Given the description of an element on the screen output the (x, y) to click on. 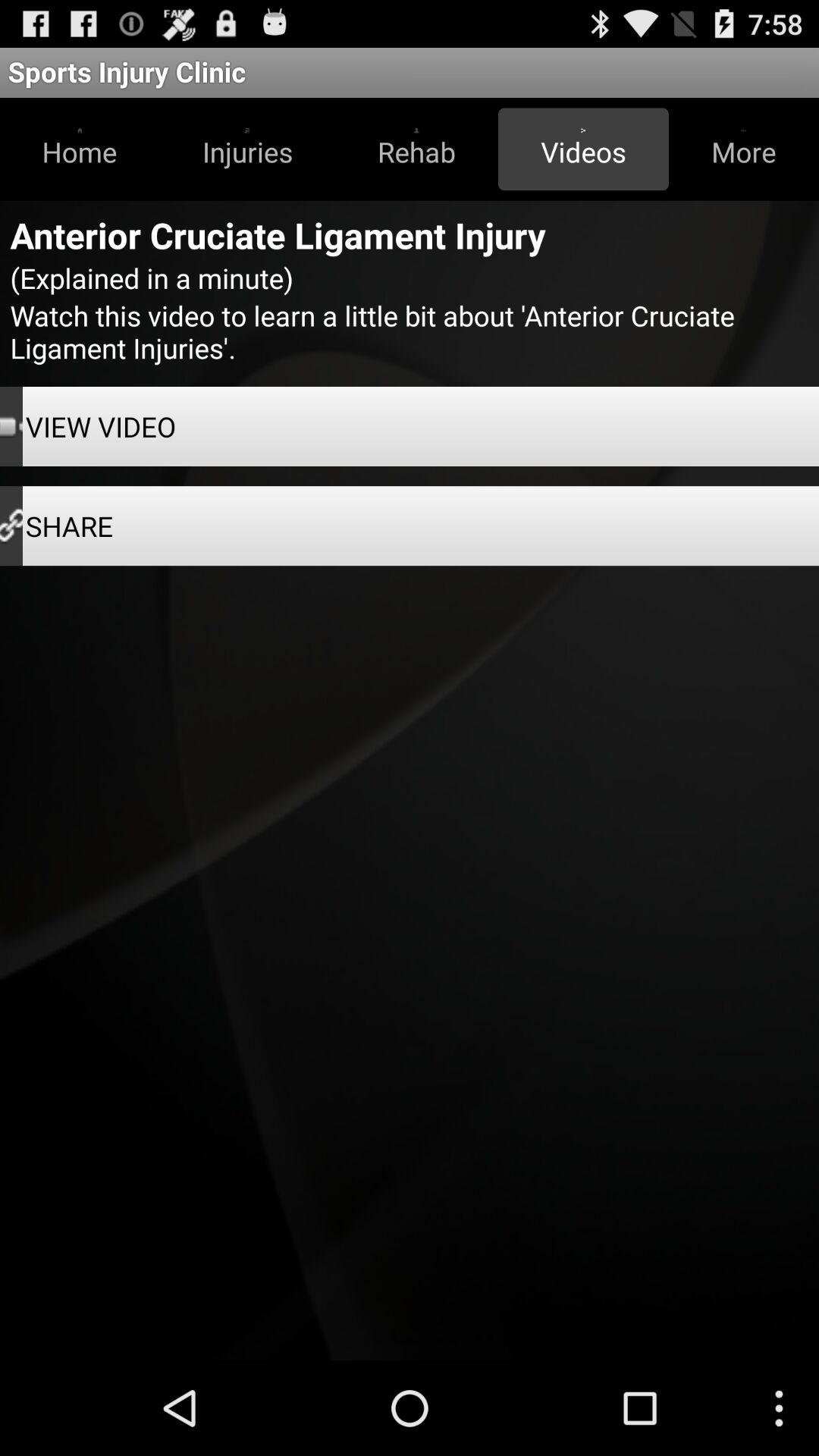
click icon next to rehab icon (583, 149)
